Given the description of an element on the screen output the (x, y) to click on. 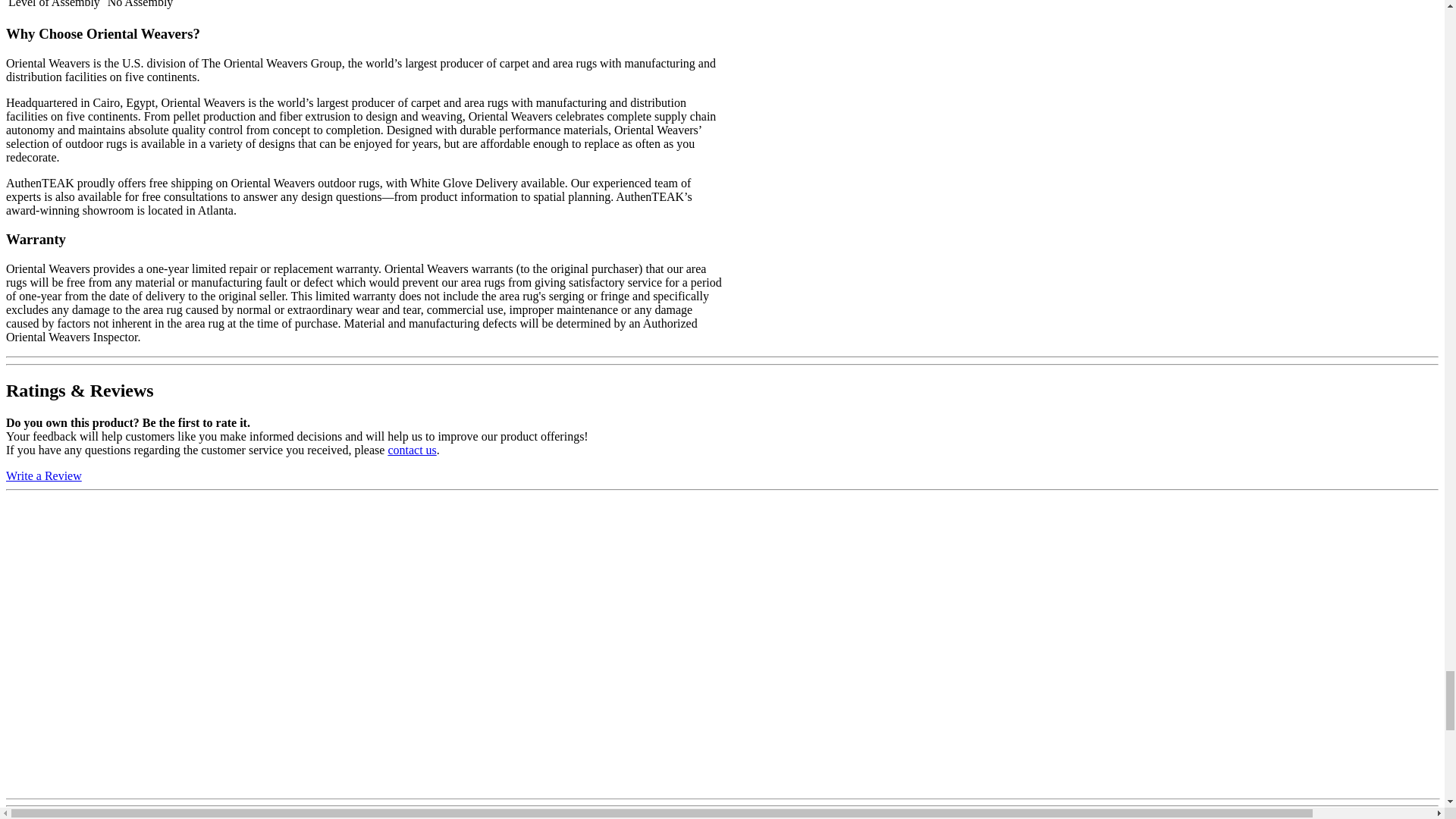
Write a Review (43, 475)
contact us (411, 449)
